Given the description of an element on the screen output the (x, y) to click on. 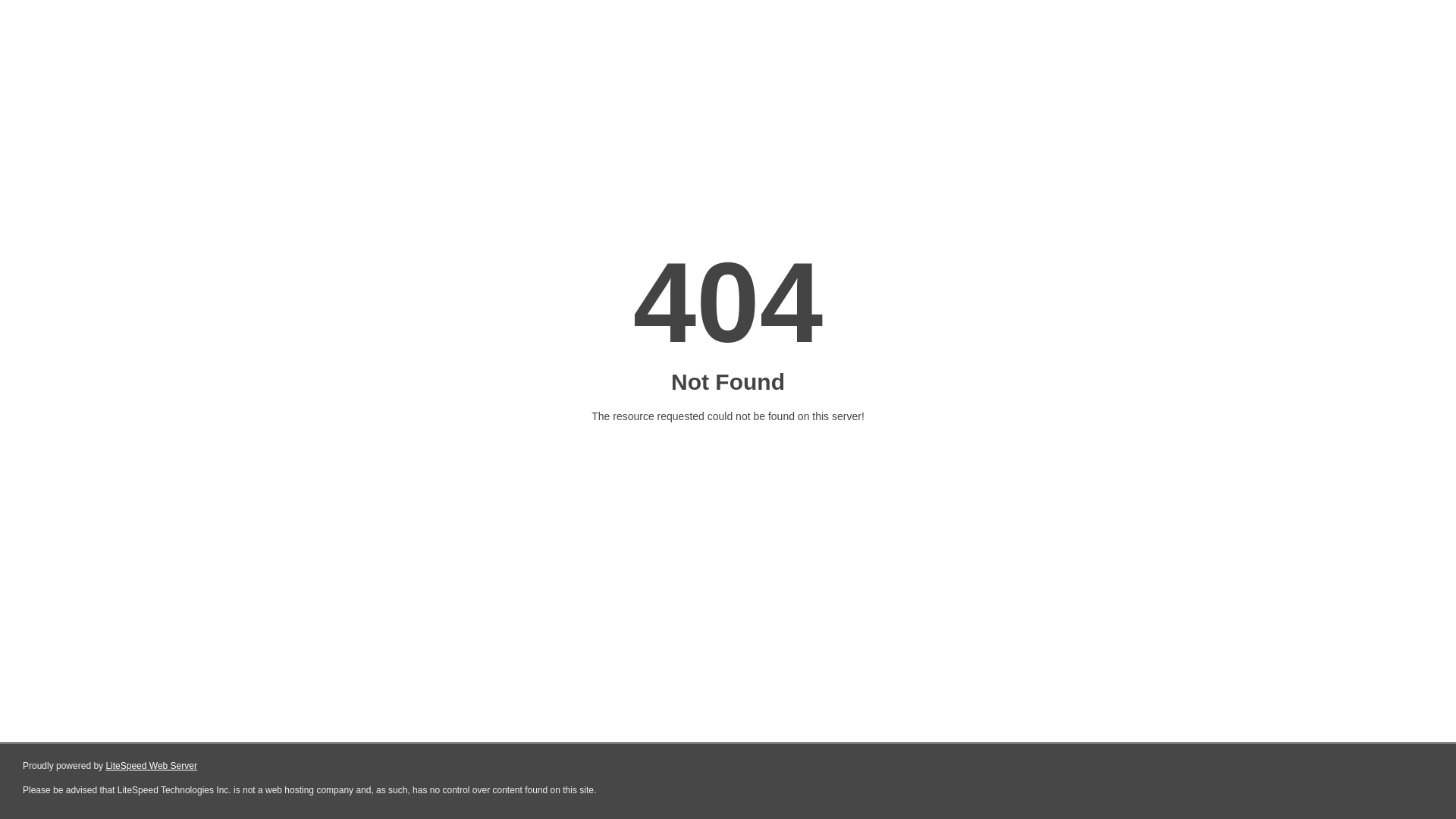
LiteSpeed Web Server Element type: text (151, 765)
